Given the description of an element on the screen output the (x, y) to click on. 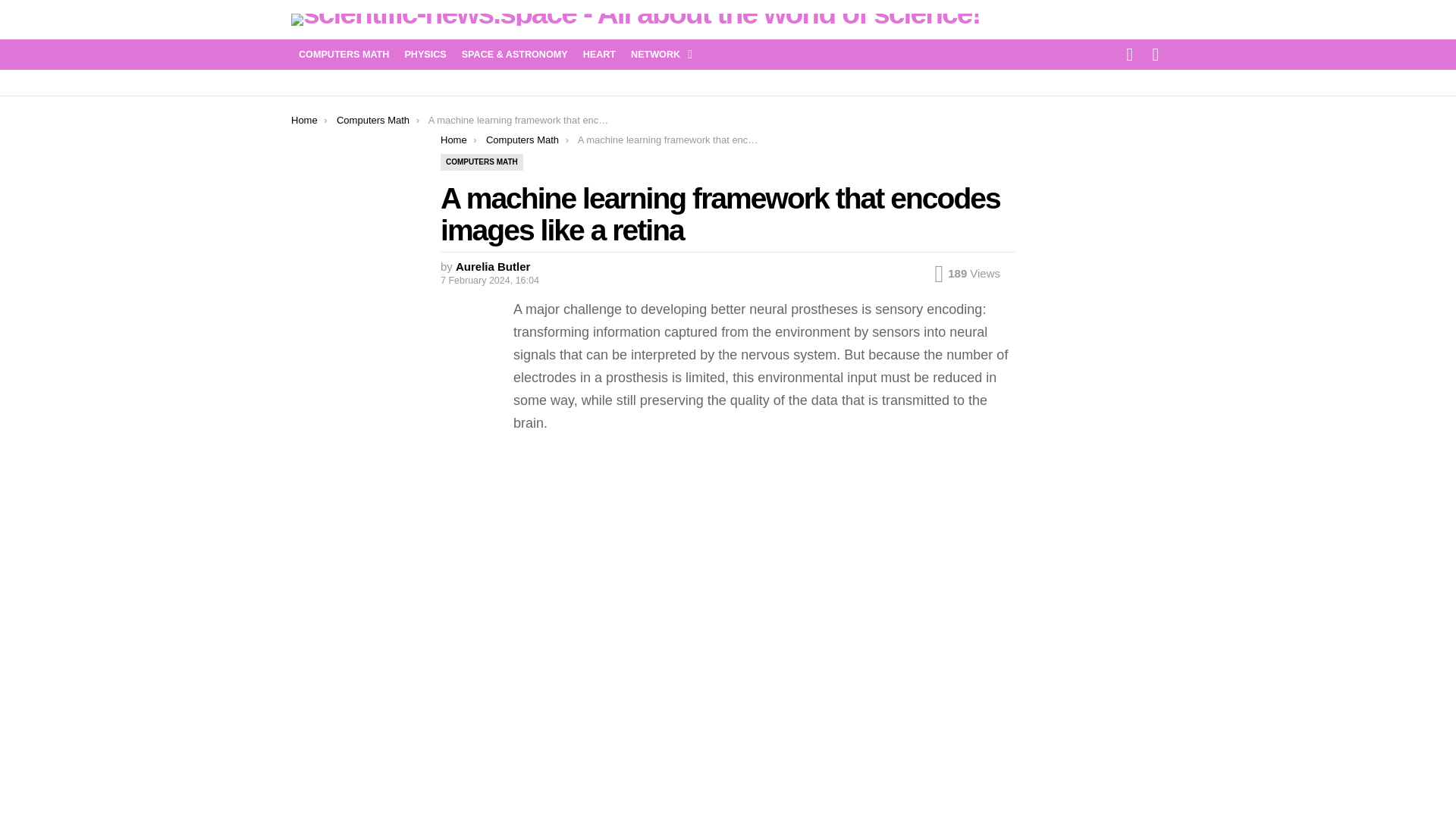
PHYSICS (424, 54)
HEART (599, 54)
NETWORK (658, 54)
COMPUTERS MATH (343, 54)
Posts by Aurelia Butler (492, 266)
